Given the description of an element on the screen output the (x, y) to click on. 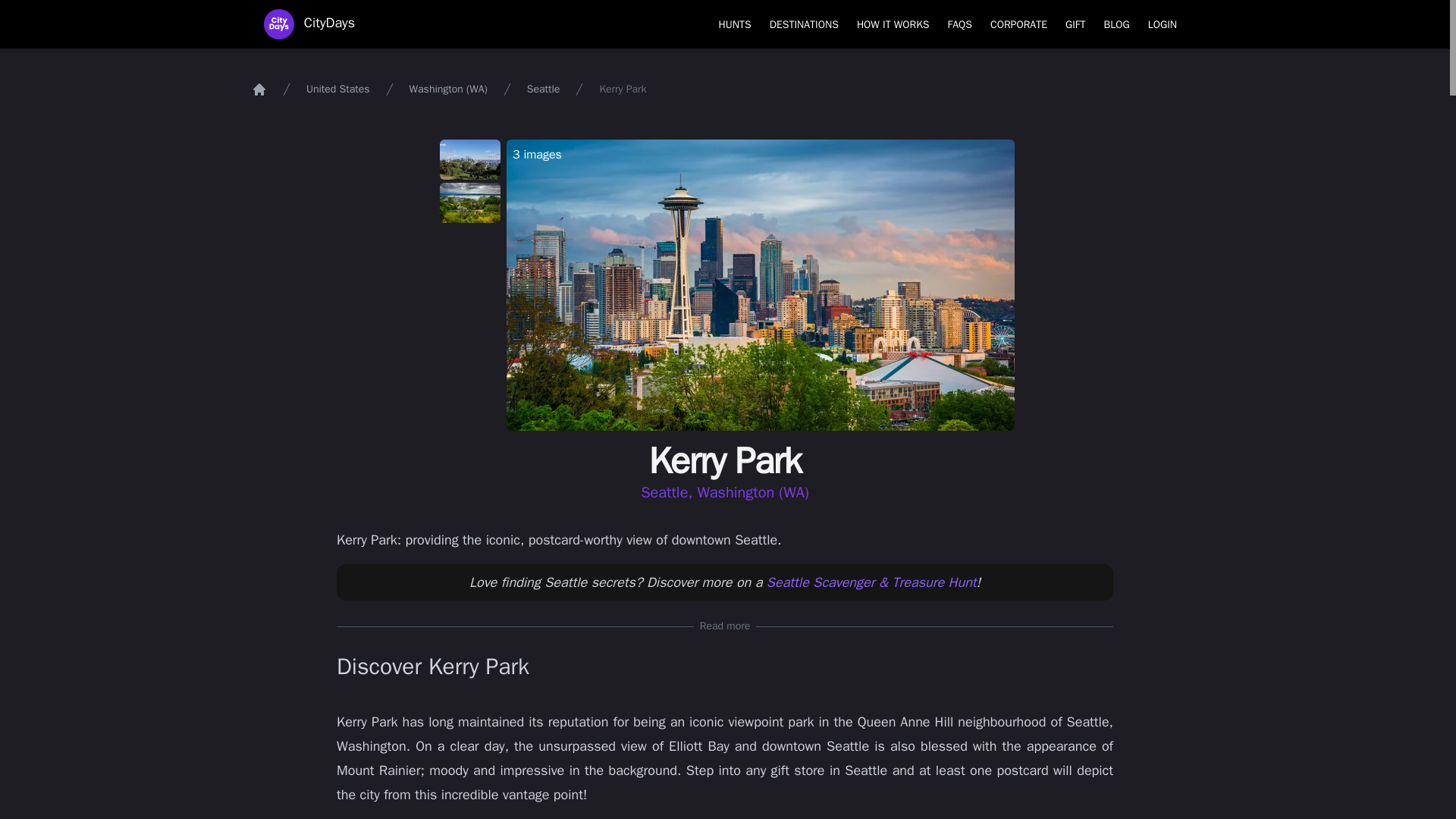
Kerry Park (309, 24)
Kerry Park (469, 159)
HUNTS (469, 202)
